Given the description of an element on the screen output the (x, y) to click on. 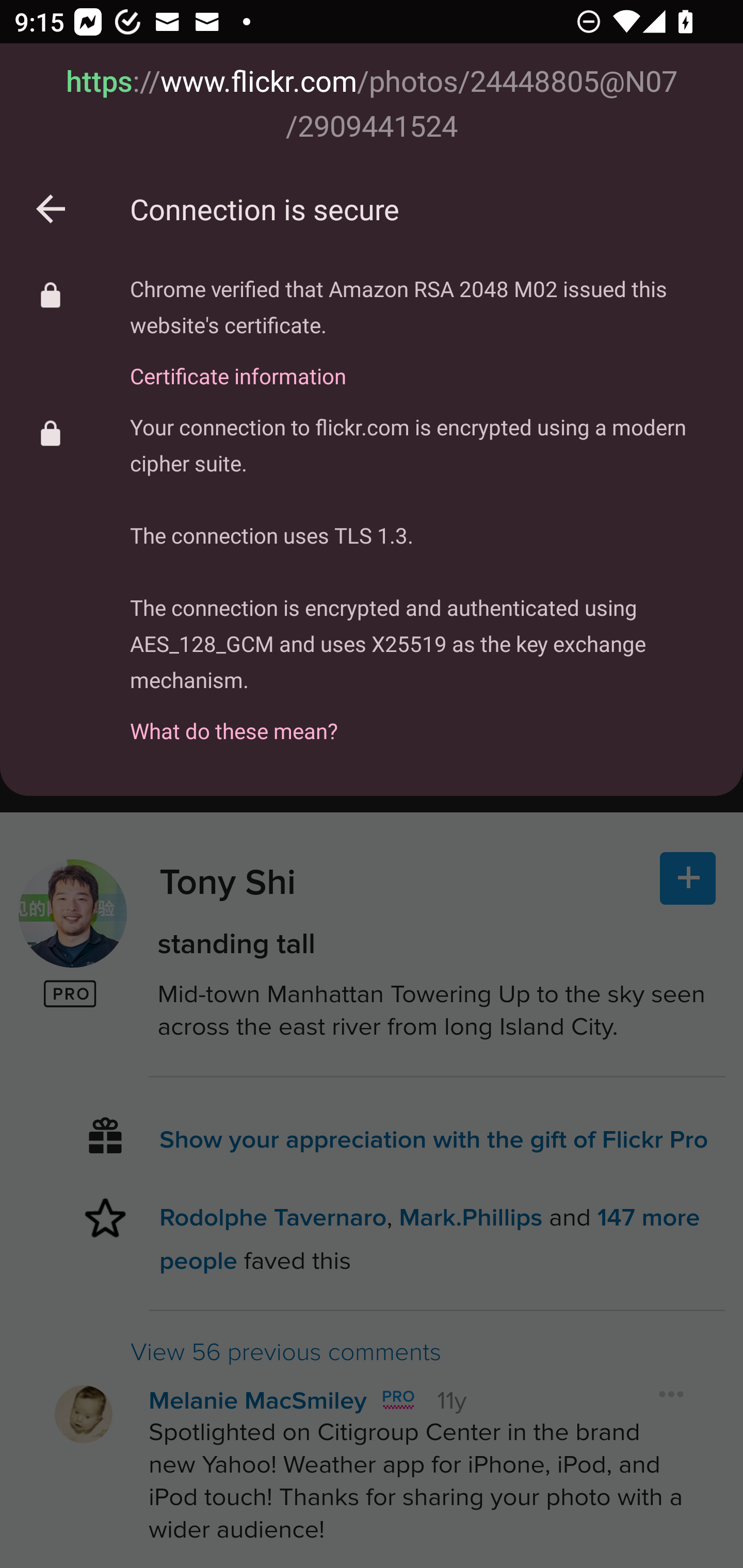
Back (50, 209)
Certificate information (422, 364)
What do these mean? (422, 719)
